Given the description of an element on the screen output the (x, y) to click on. 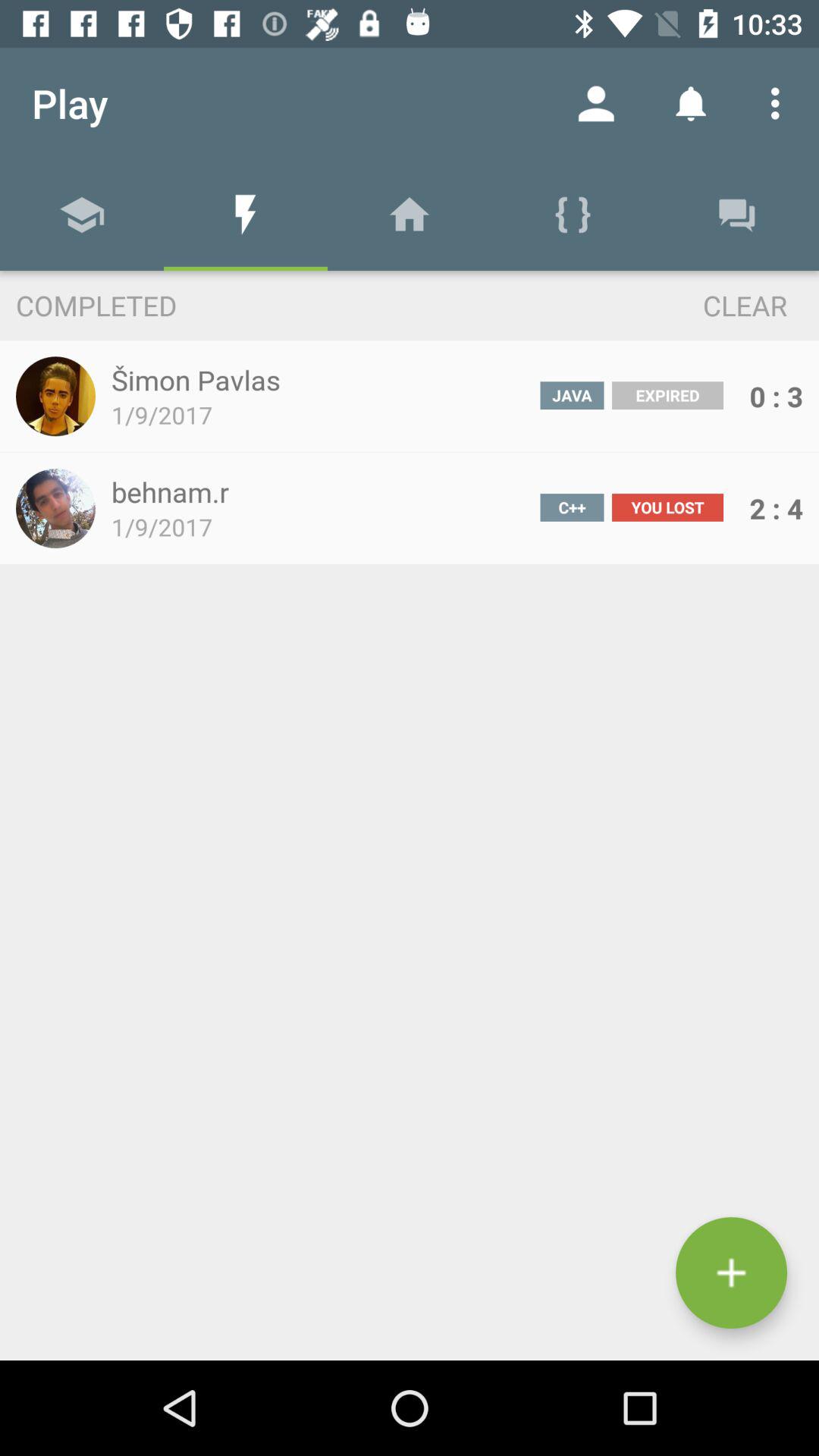
jump until clear icon (717, 305)
